Given the description of an element on the screen output the (x, y) to click on. 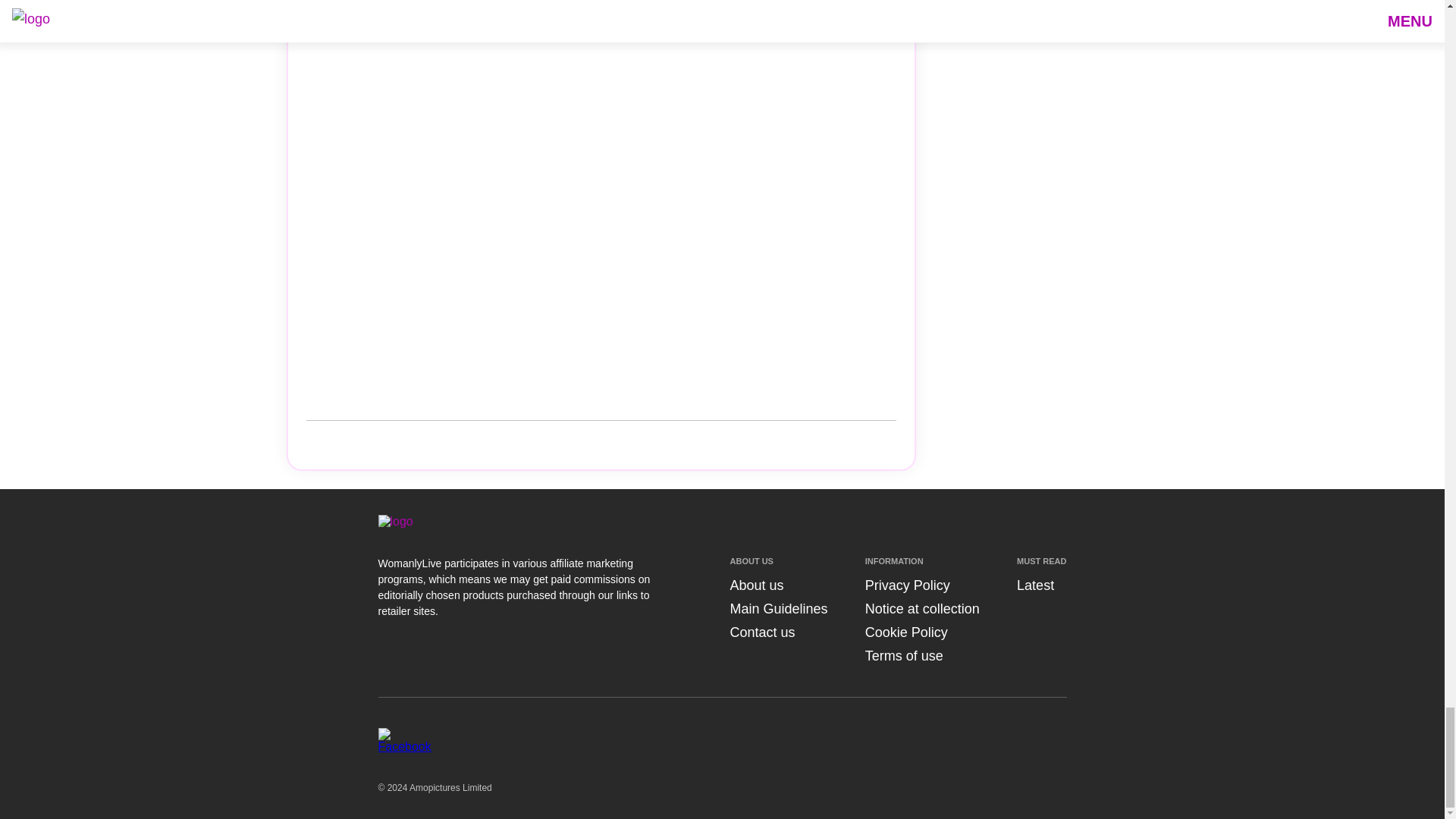
Contact us (761, 631)
Cookie Policy (905, 631)
Main Guidelines (778, 608)
About us (756, 585)
Notice at collection (921, 608)
Terms of use (903, 655)
Privacy Policy (907, 585)
